Given the description of an element on the screen output the (x, y) to click on. 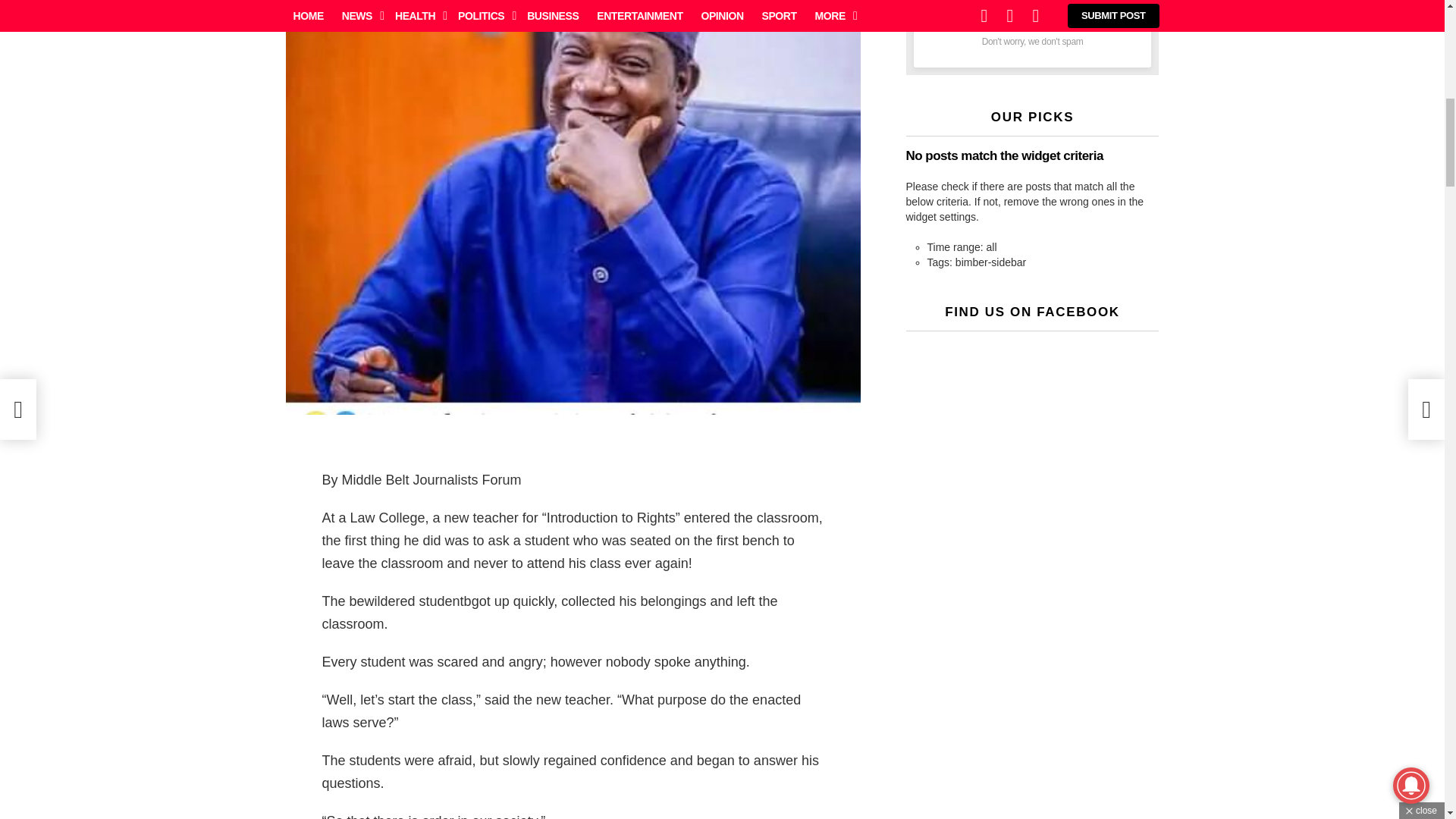
Sign up (1031, 17)
